Given the description of an element on the screen output the (x, y) to click on. 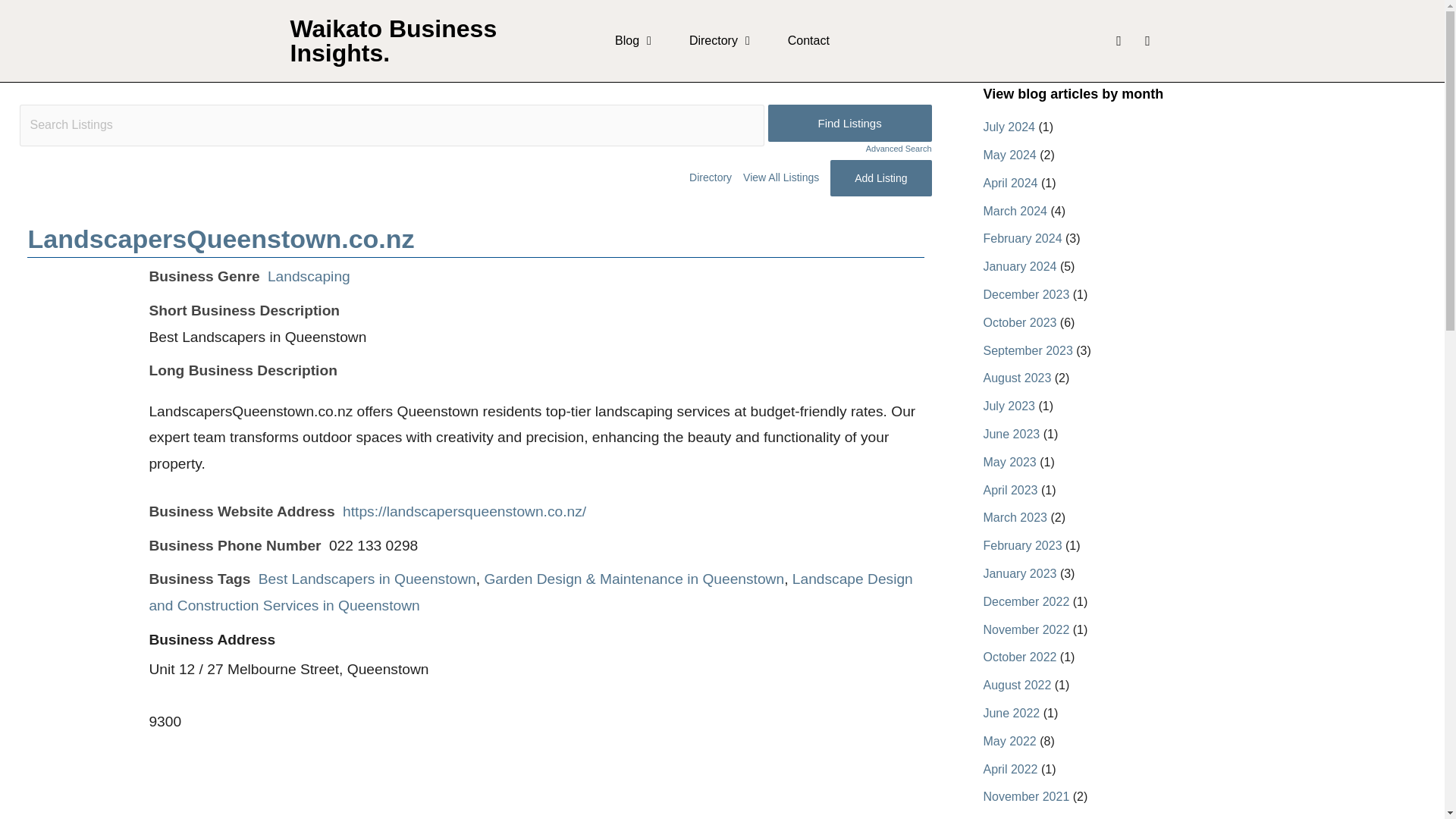
April 2024 (1009, 182)
Advanced Search (849, 149)
October 2023 (1019, 322)
July 2023 (1008, 405)
April 2023 (1009, 490)
Best Landscapers in Queenstown (367, 578)
August 2023 (1016, 377)
December 2023 (1025, 294)
March 2024 (1014, 210)
June 2023 (1010, 433)
Add Listing (880, 177)
Contact (808, 40)
Landscape Design and Construction Services in Queenstown (530, 591)
LandscapersQueenstown.co.nz (220, 238)
January 2024 (1019, 266)
